Given the description of an element on the screen output the (x, y) to click on. 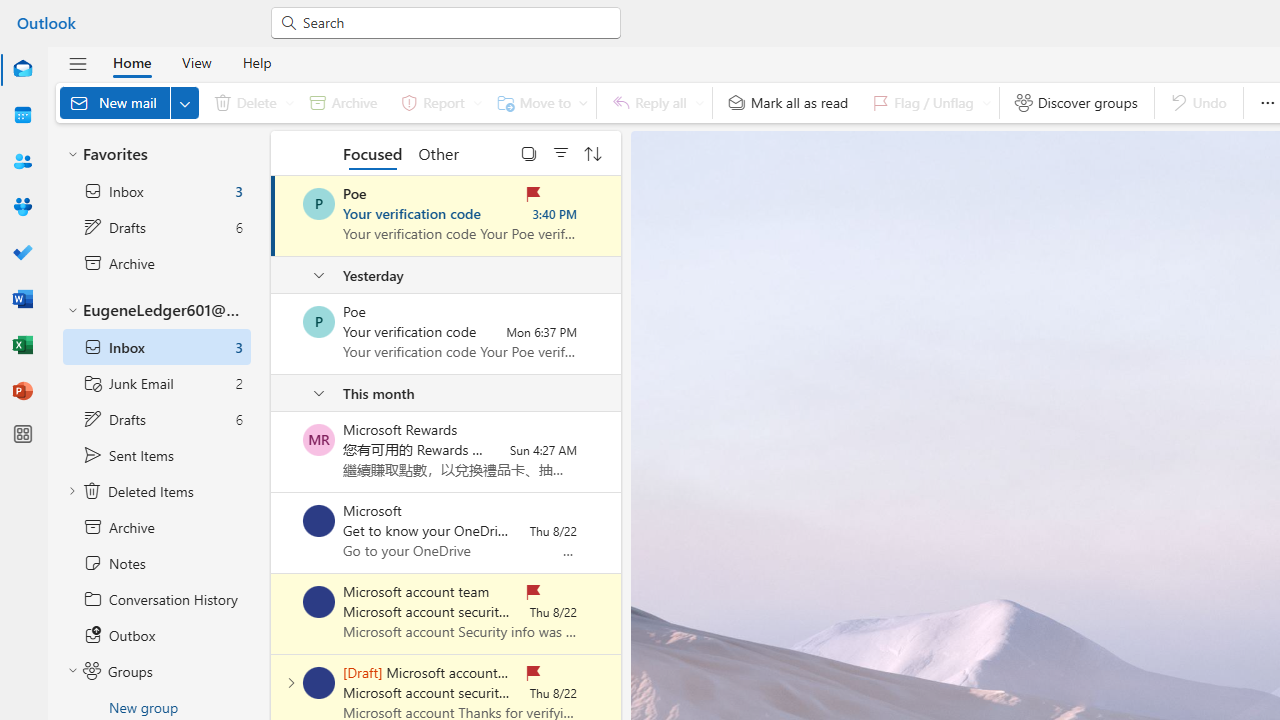
People (22, 161)
View (196, 61)
Inbox selected 3 unread (156, 347)
EugeneLedger601@outlook.com (156, 311)
Expand to see delete options (289, 102)
Notes (156, 563)
Select a conversation (319, 682)
Delete (250, 102)
Focused (372, 152)
Reply all (654, 102)
Conversation History (156, 599)
Favorites (156, 154)
